Given the description of an element on the screen output the (x, y) to click on. 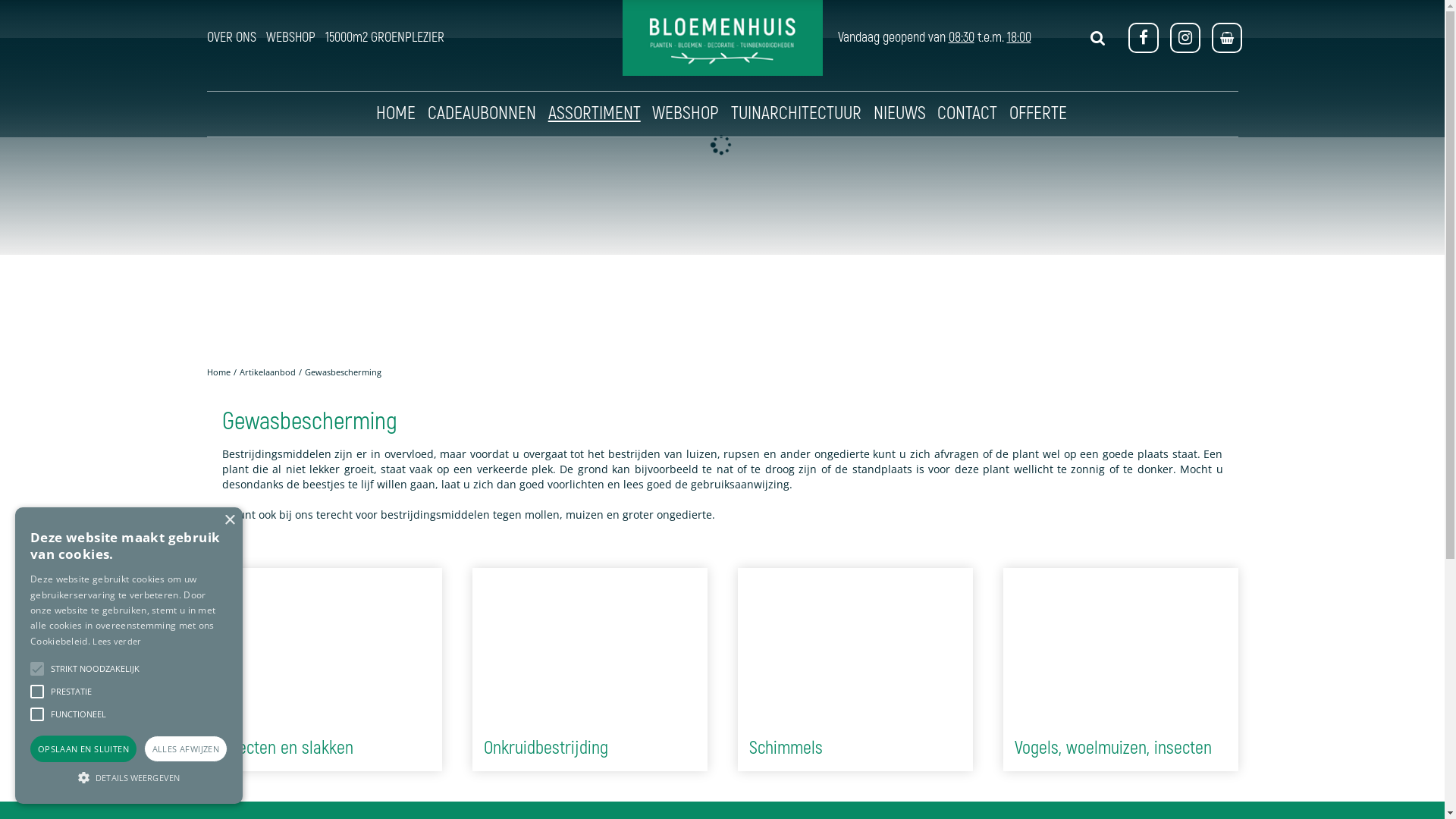
src Element type: text (1097, 37)
CADEAUBONNEN Element type: text (481, 113)
HOME Element type: text (395, 113)
WEBSHOP Element type: text (290, 37)
Vogels, woelmuizen, insecten Element type: text (1112, 748)
Ga naar je winkelwagen Element type: hover (1228, 37)
ig Element type: text (1184, 37)
Schimmels Element type: hover (854, 646)
TUINARCHITECTUUR Element type: text (796, 113)
Insecten en slakken Element type: text (285, 748)
WEBSHOP Element type: text (685, 113)
Onkruidbestrijding Element type: text (545, 748)
Home Element type: text (217, 372)
Gewasbescherming Element type: text (342, 372)
Artikelaanbod Element type: text (267, 372)
CONTACT Element type: text (967, 113)
fb Element type: text (1143, 37)
OFFERTE Element type: text (1037, 113)
OVER ONS Element type: text (230, 37)
Lees verder Element type: text (116, 640)
NIEUWS Element type: text (899, 113)
Schimmels Element type: text (785, 748)
Onkruidbestrijding Element type: hover (588, 646)
ASSORTIMENT Element type: text (594, 113)
Insecten en slakken Element type: hover (323, 646)
15000m2 GROENPLEZIER Element type: text (384, 37)
Vandaag geopend van 08:30 t.e.m. 18:00 Element type: text (933, 37)
Vogels, woelmuizen, insecten Element type: hover (1119, 646)
